Given the description of an element on the screen output the (x, y) to click on. 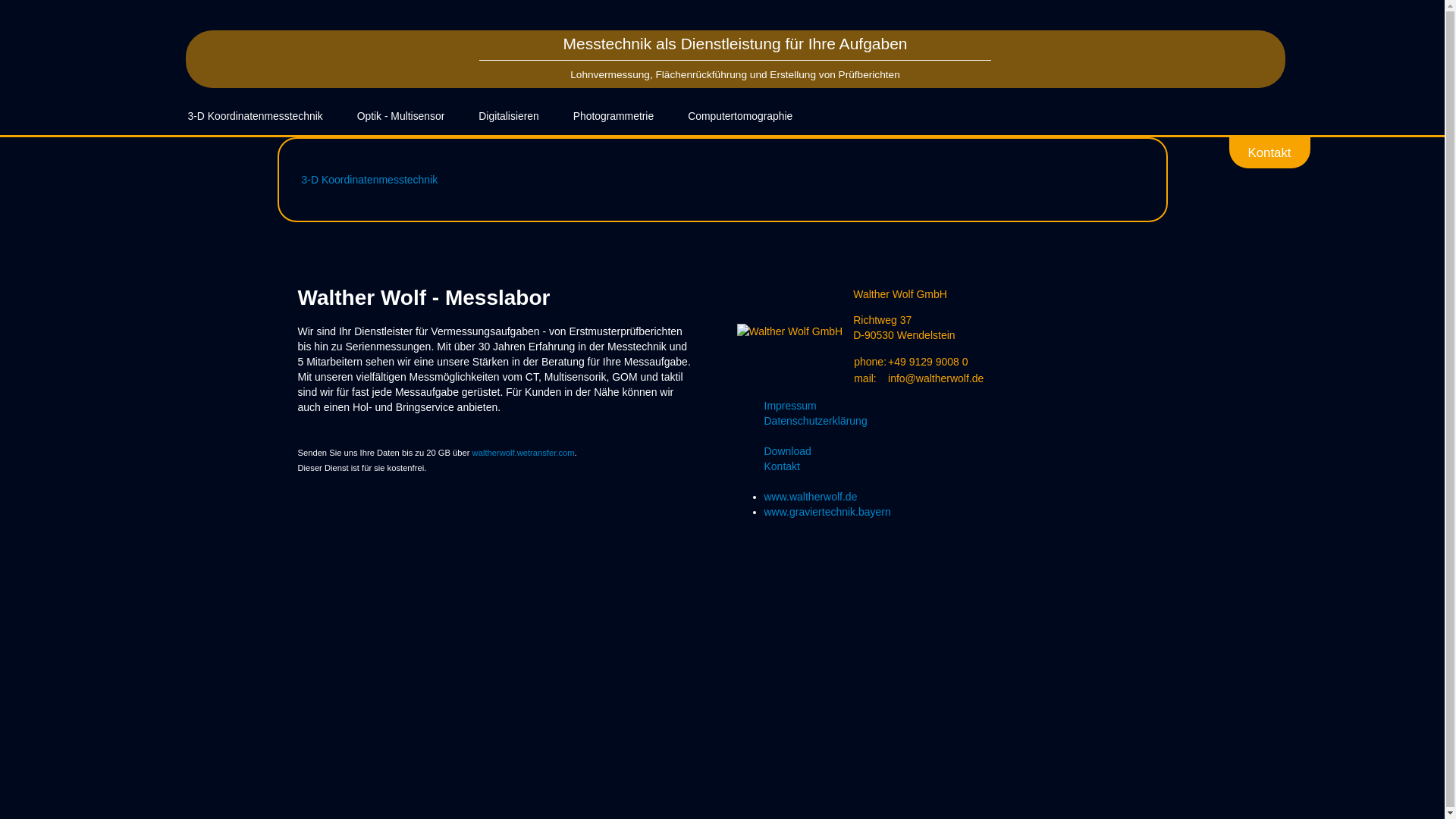
info@waltherwolf.de Element type: text (935, 378)
www.waltherwolf.de Element type: text (810, 496)
Impressum Element type: text (965, 405)
Kontakt Element type: text (965, 465)
Optik - Multisensor Element type: text (401, 116)
Walther Wolf GmbH Element type: hover (790, 330)
3-D Koordinatenmesstechnik Element type: text (255, 116)
Kontakt Element type: text (1269, 151)
Photogrammetrie Element type: text (613, 116)
waltherwolf.wetransfer.com Element type: text (523, 452)
Download Element type: text (965, 450)
Digitalisieren Element type: text (508, 116)
3-D Koordinatenmesstechnik Element type: text (369, 179)
www.graviertechnik.bayern Element type: text (827, 511)
Computertomographie Element type: text (739, 116)
